Given the description of an element on the screen output the (x, y) to click on. 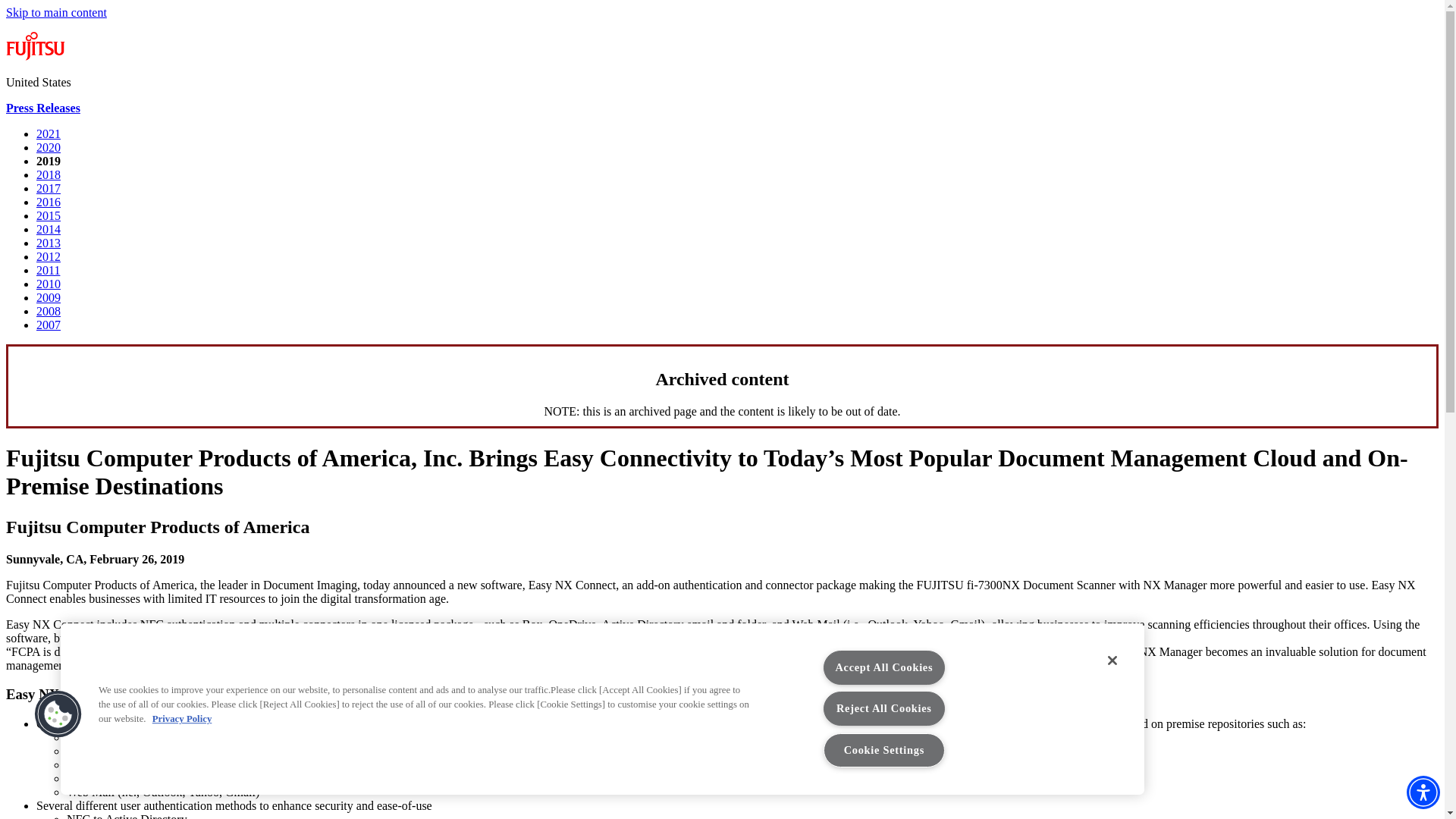
2016 (48, 201)
2012 (48, 256)
Accept All Cookies (884, 667)
 2008 (48, 310)
 2020 (48, 146)
Reject All Cookies (884, 708)
 2010 (48, 283)
2018 (48, 174)
2017 (48, 187)
 2011 (47, 269)
 2009 (48, 297)
2008 (48, 310)
2011 (47, 269)
2015 (48, 215)
 2012 (48, 256)
